Given the description of an element on the screen output the (x, y) to click on. 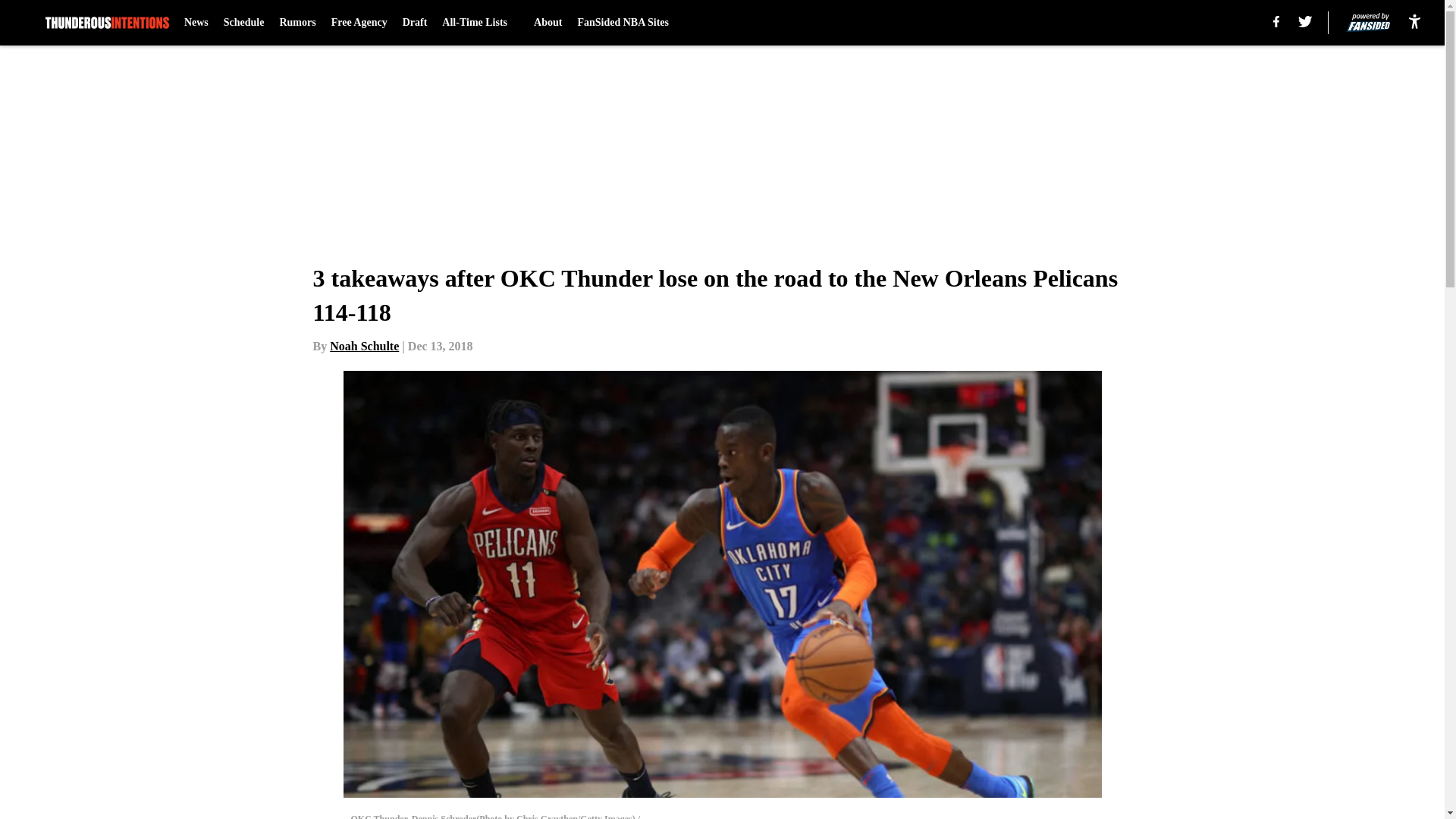
All-Time Lists (480, 22)
Schedule (244, 22)
Free Agency (359, 22)
Noah Schulte (364, 345)
Rumors (297, 22)
News (196, 22)
Draft (415, 22)
FanSided NBA Sites (622, 22)
About (548, 22)
